Given the description of an element on the screen output the (x, y) to click on. 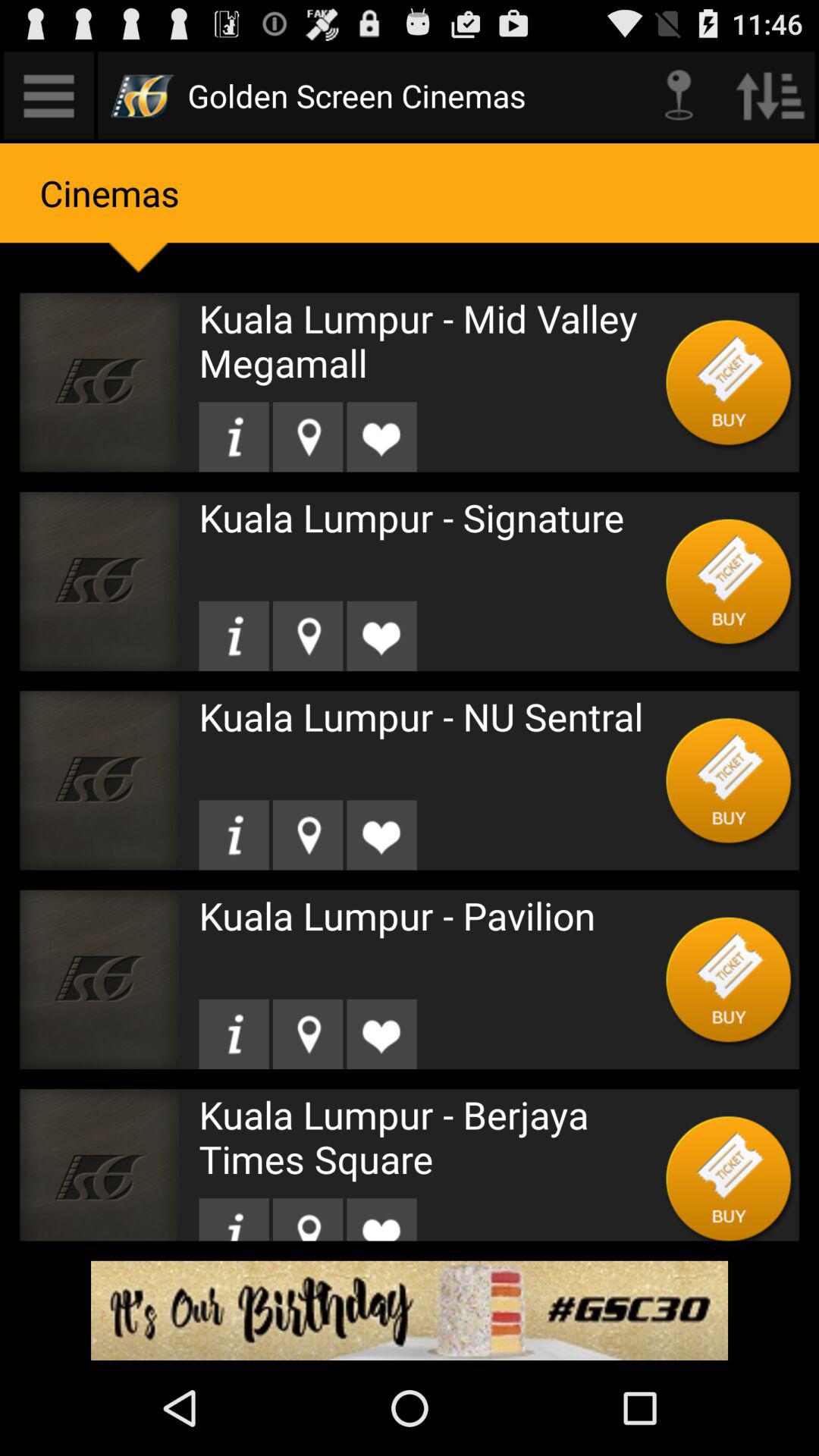
menu option (48, 95)
